Given the description of an element on the screen output the (x, y) to click on. 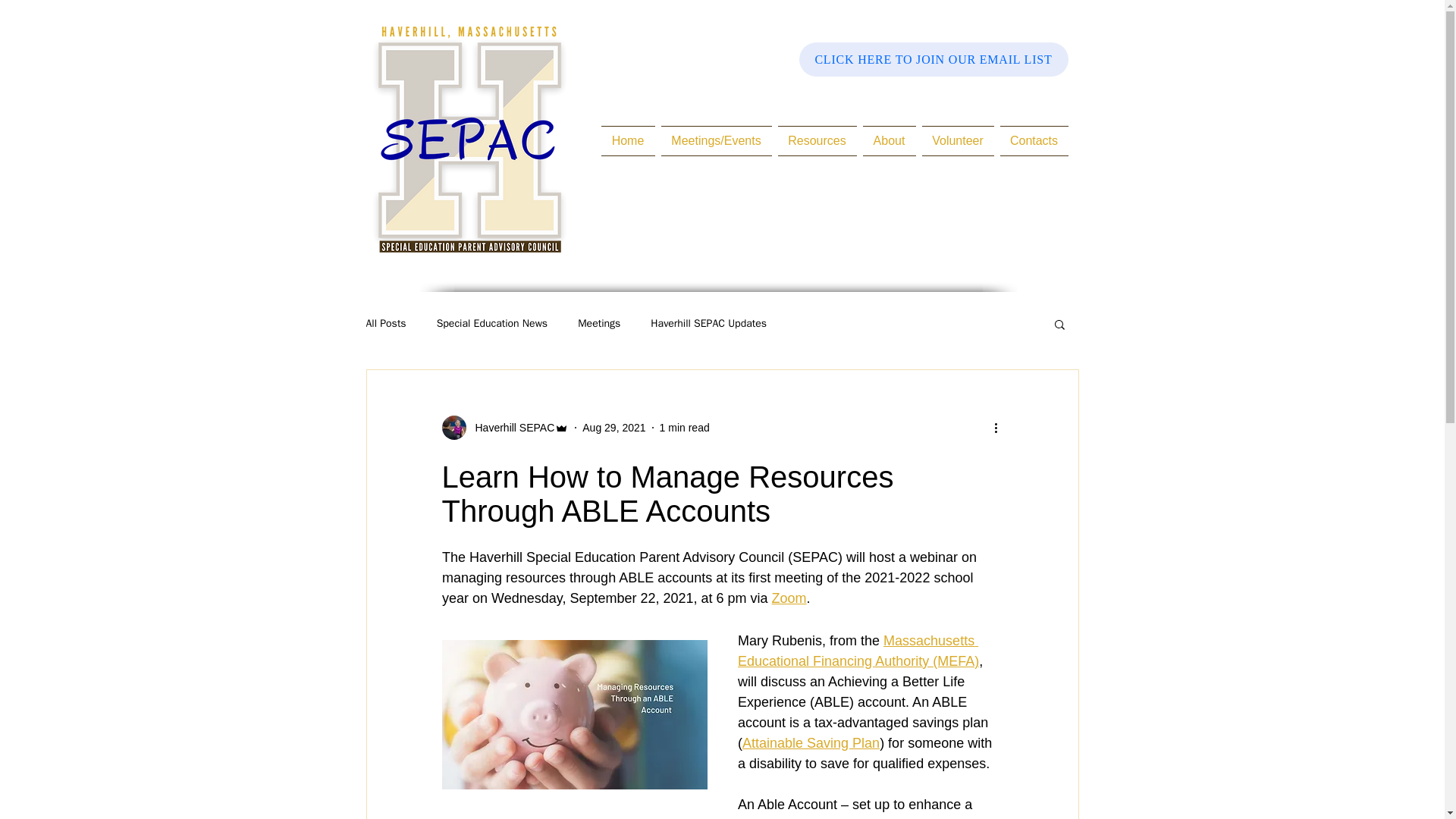
Meetings (599, 323)
All Posts (385, 323)
Special Education News (492, 323)
Zoom (788, 598)
About (889, 141)
Volunteer (957, 141)
Resources (817, 141)
1 min read (684, 427)
Home (628, 141)
Haverhill SEPAC Updates (708, 323)
Contacts (1031, 141)
Aug 29, 2021 (613, 427)
Haverhill SEPAC (505, 427)
Attainable Saving Plan (810, 743)
Haverhill SEPAC (509, 427)
